Given the description of an element on the screen output the (x, y) to click on. 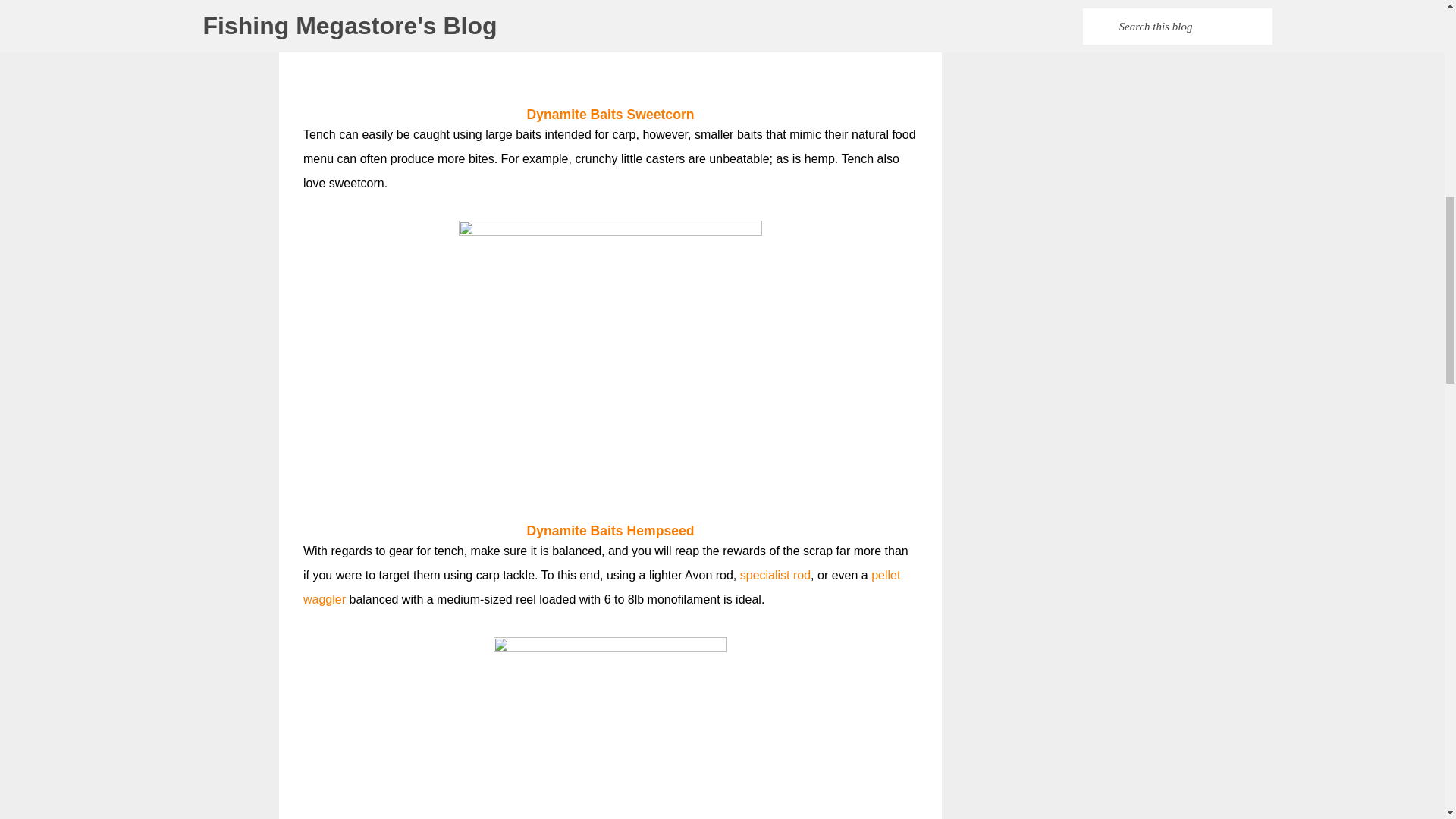
Dynamite Baits Sweetcorn (609, 114)
pellet waggler (600, 587)
specialist rod (774, 574)
Dynamite Baits Hempseed (609, 530)
